Given the description of an element on the screen output the (x, y) to click on. 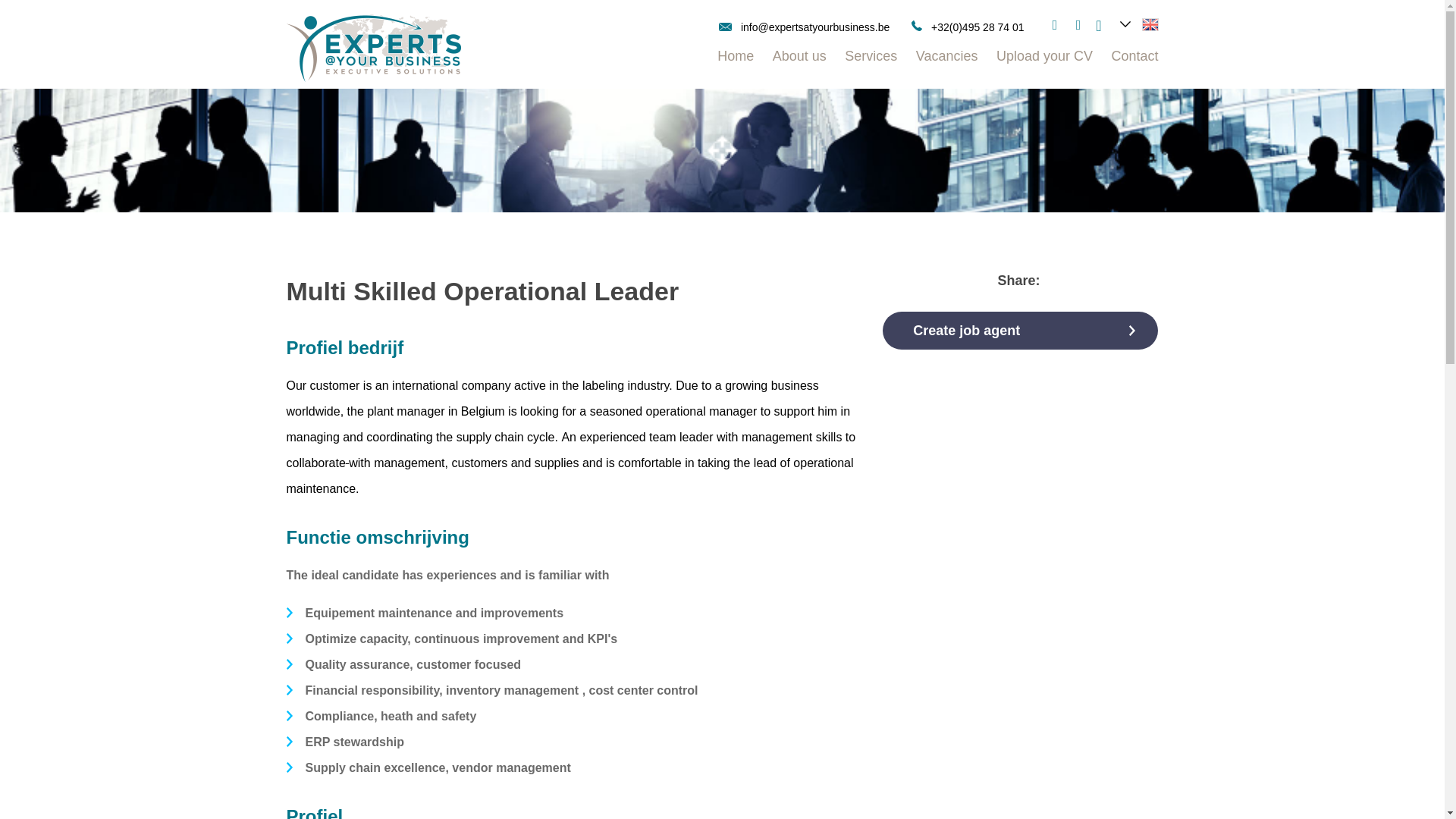
Services (870, 59)
Vacancies (946, 59)
Services (870, 59)
About us (800, 59)
Contact (1133, 59)
Upload your CV (1044, 59)
Contact (1133, 59)
Upload your CV (1044, 59)
About us (800, 59)
Create job agent (1019, 330)
